Given the description of an element on the screen output the (x, y) to click on. 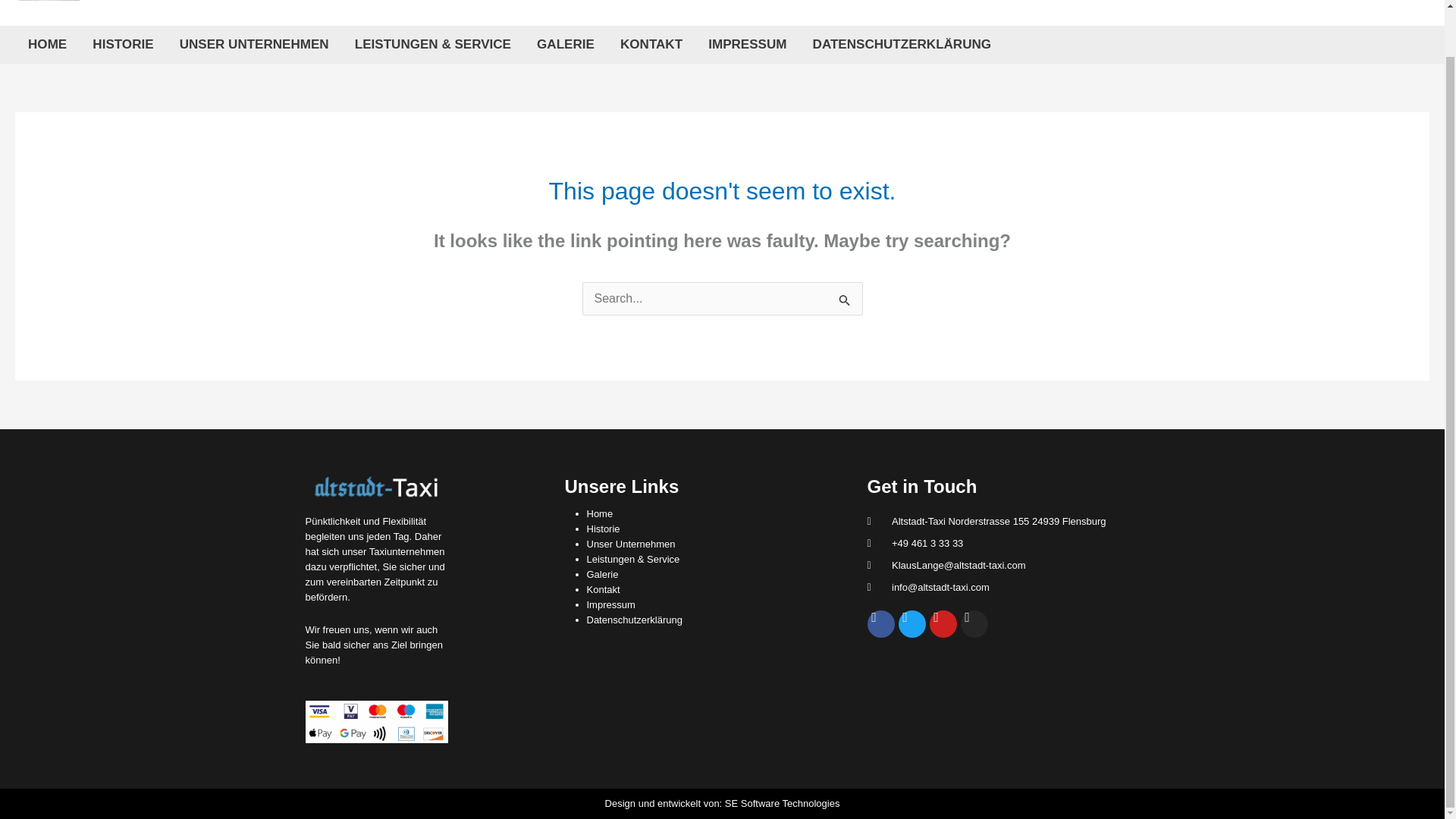
GALERIE (565, 44)
Galerie (602, 573)
Twitter (911, 624)
HISTORIE (122, 44)
Impressum (610, 604)
Unser Unternehmen (630, 543)
Kontakt (603, 589)
Home (599, 513)
HOME (47, 44)
Facebook (881, 624)
UNSER UNTERNEHMEN (254, 44)
IMPRESSUM (747, 44)
Historie (603, 528)
KONTAKT (651, 44)
